Given the description of an element on the screen output the (x, y) to click on. 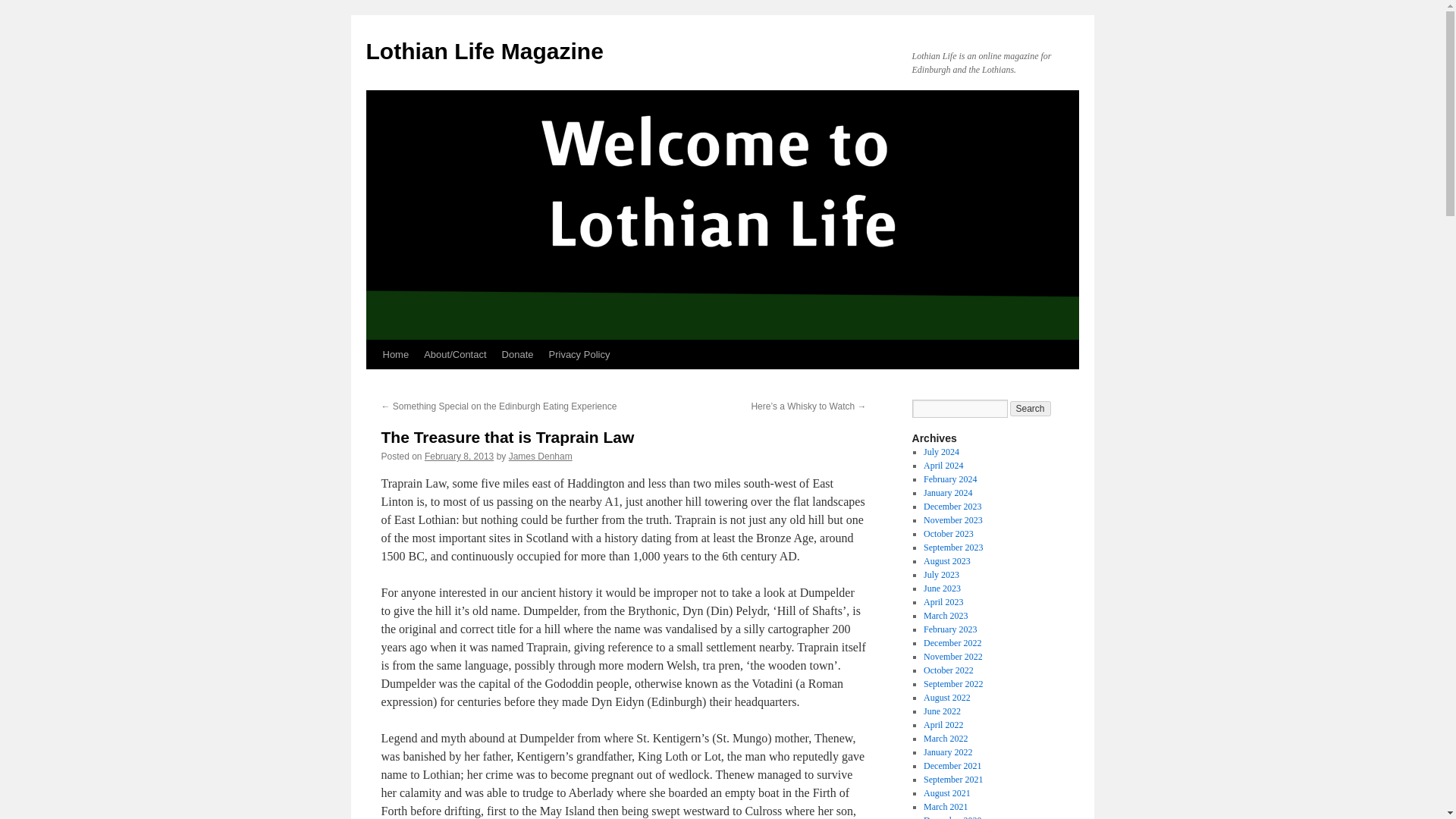
September 2022 (952, 683)
September 2023 (952, 547)
April 2023 (942, 602)
Search (1030, 408)
Lothian Life Magazine (483, 50)
July 2024 (941, 451)
March 2023 (945, 615)
October 2022 (948, 670)
December 2023 (952, 506)
November 2023 (952, 520)
February 2023 (949, 629)
Home (395, 354)
February 8, 2013 (459, 456)
February 2024 (949, 479)
July 2023 (941, 574)
